Given the description of an element on the screen output the (x, y) to click on. 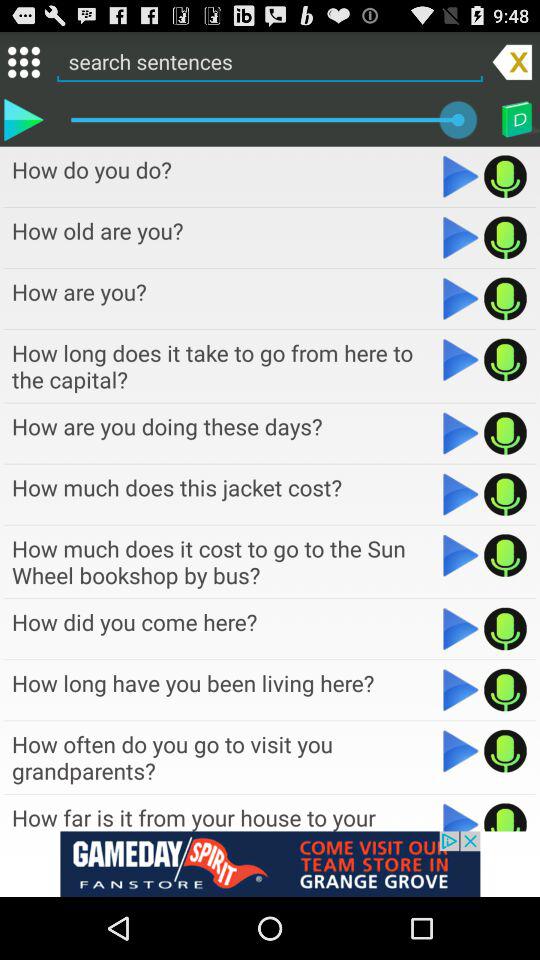
go to record (505, 628)
